Given the description of an element on the screen output the (x, y) to click on. 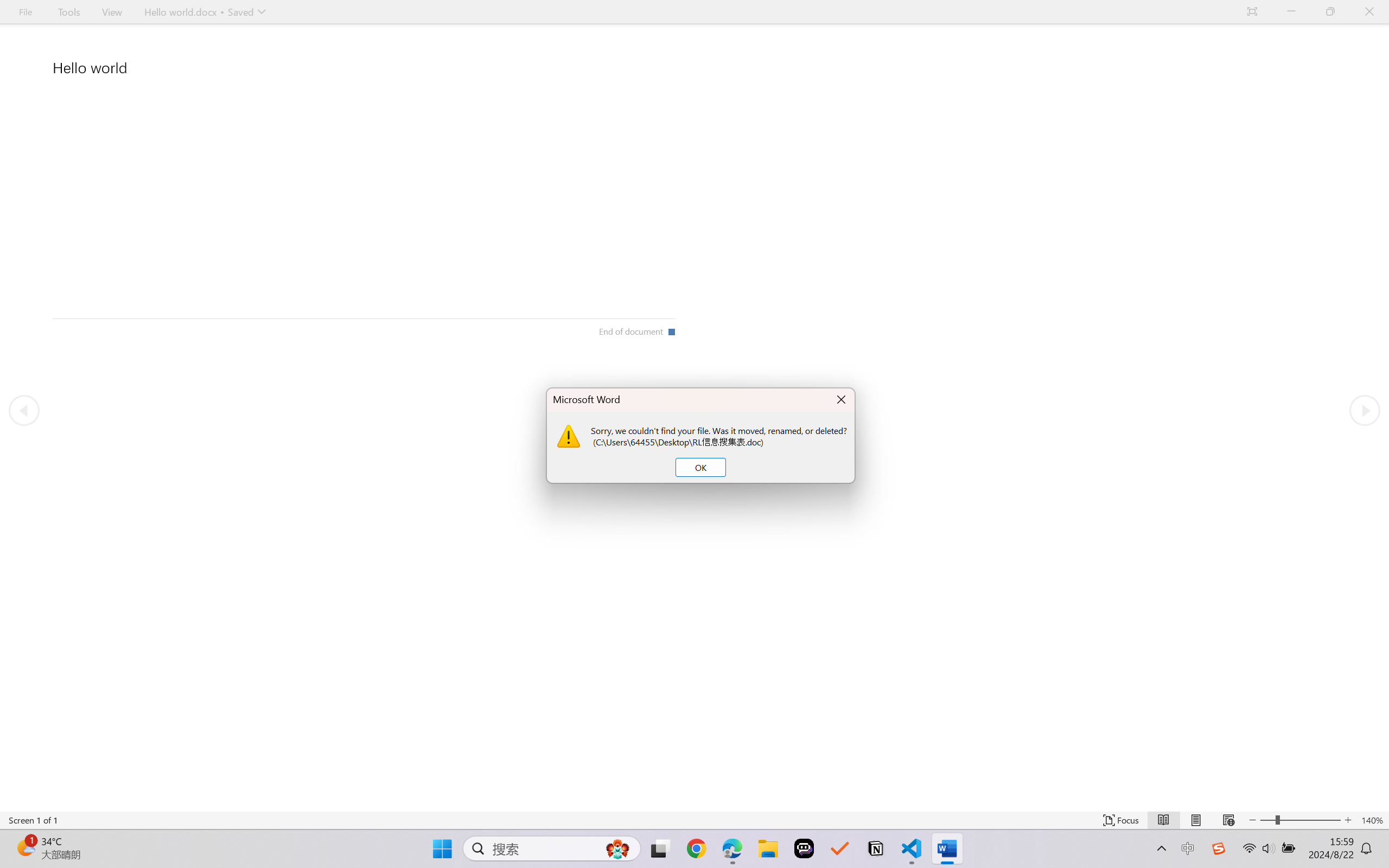
Read Mode (1163, 819)
Increase Text Size (1348, 819)
Poe (804, 848)
Text Size (1300, 819)
Decrease Text Size (1252, 819)
File Tab (24, 11)
Close (1369, 11)
Print Layout (1196, 819)
AutomationID: BadgeAnchorLargeTicker (24, 847)
